Given the description of an element on the screen output the (x, y) to click on. 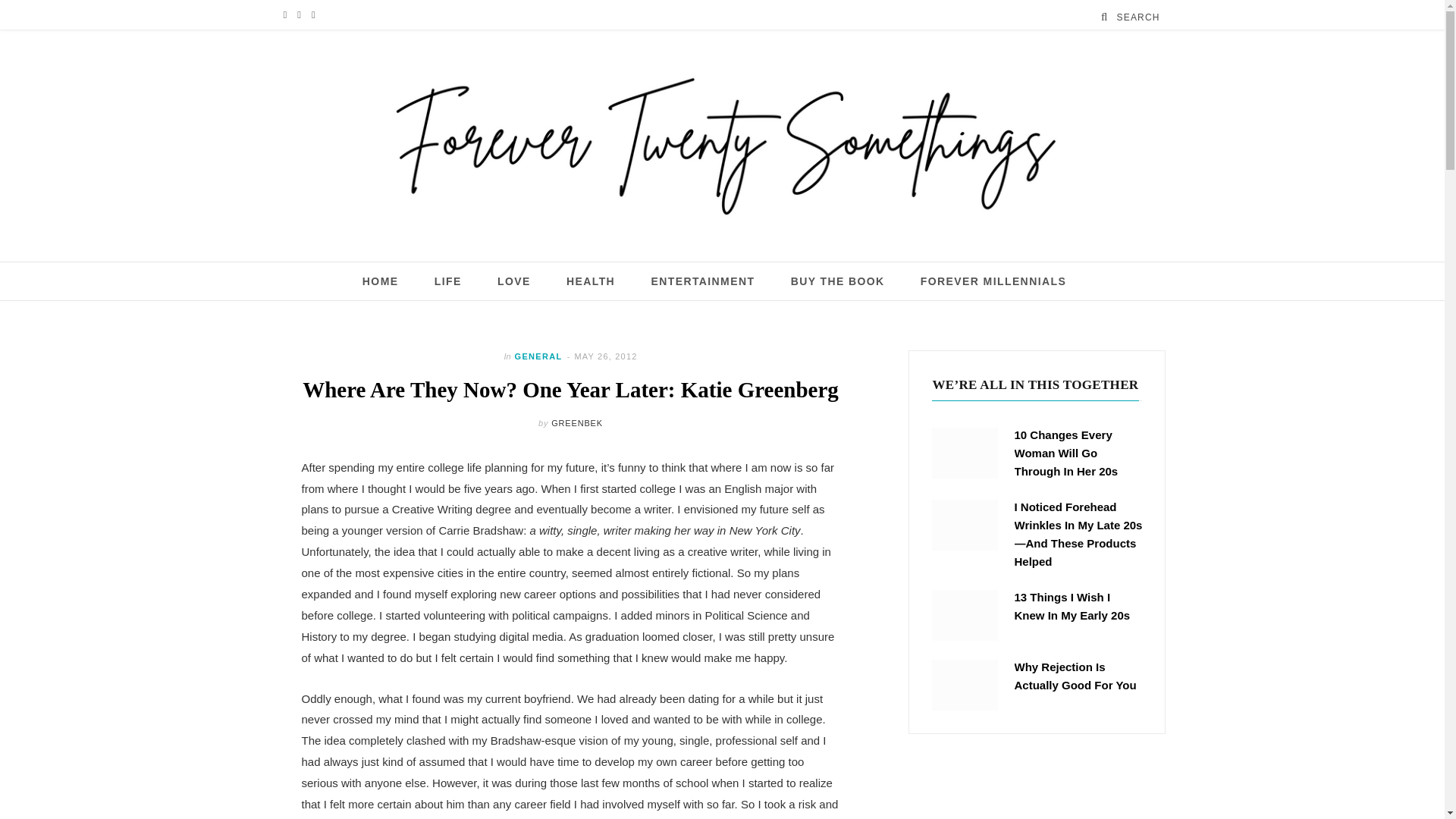
HOME (380, 281)
LIFE (448, 281)
MAY 26, 2012 (605, 356)
Forever Twenty Somethings (722, 146)
GENERAL (538, 356)
10 Changes Every Woman Will Go Through In Her 20s (964, 452)
13 Things I Wish I Knew In My Early 20s (964, 614)
FOREVER MILLENNIALS (992, 281)
GREENBEK (576, 422)
ENTERTAINMENT (702, 281)
HEALTH (590, 281)
LOVE (514, 281)
Posts by greenbek (576, 422)
BUY THE BOOK (837, 281)
